Given the description of an element on the screen output the (x, y) to click on. 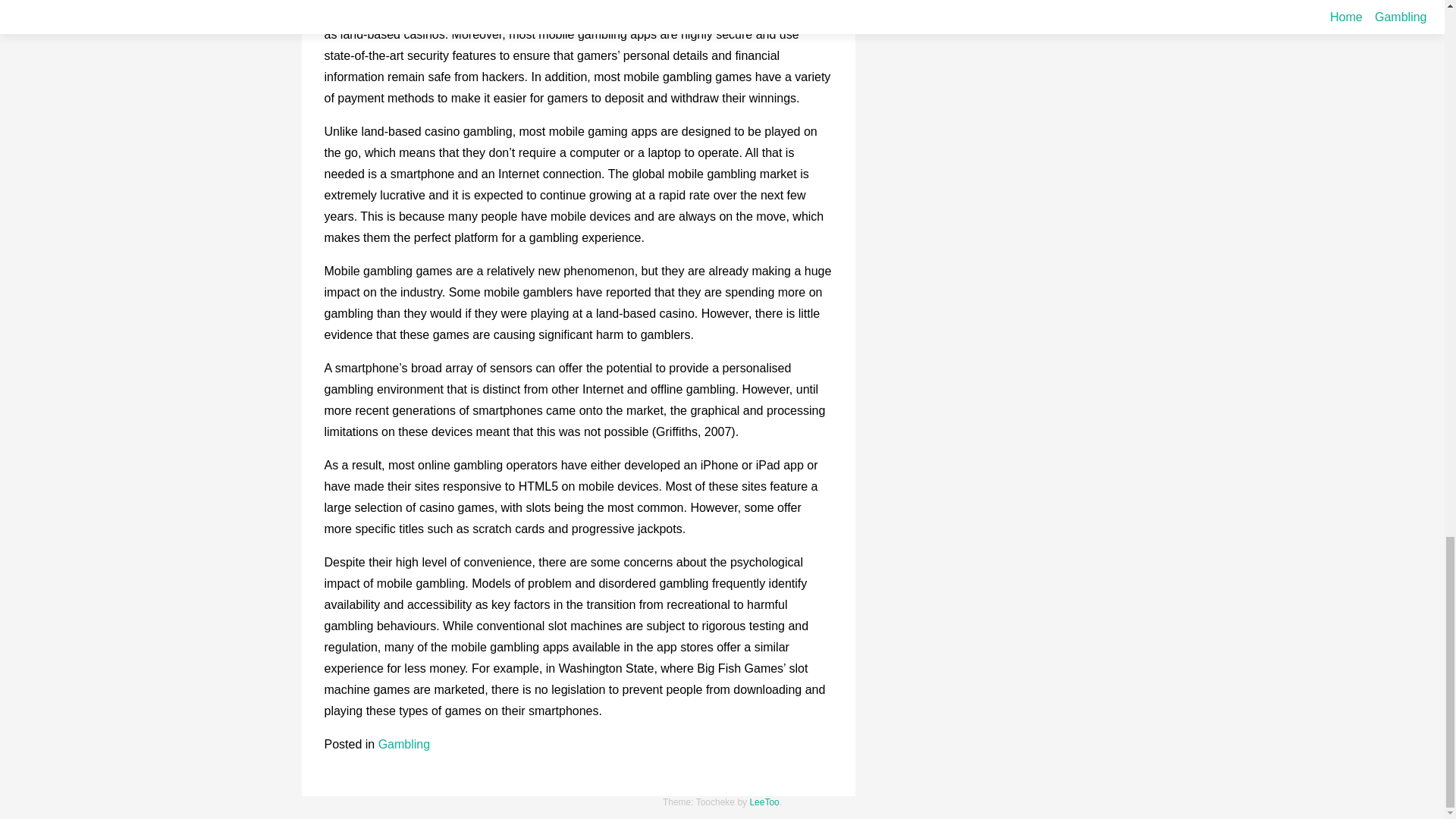
Gambling (403, 744)
